Given the description of an element on the screen output the (x, y) to click on. 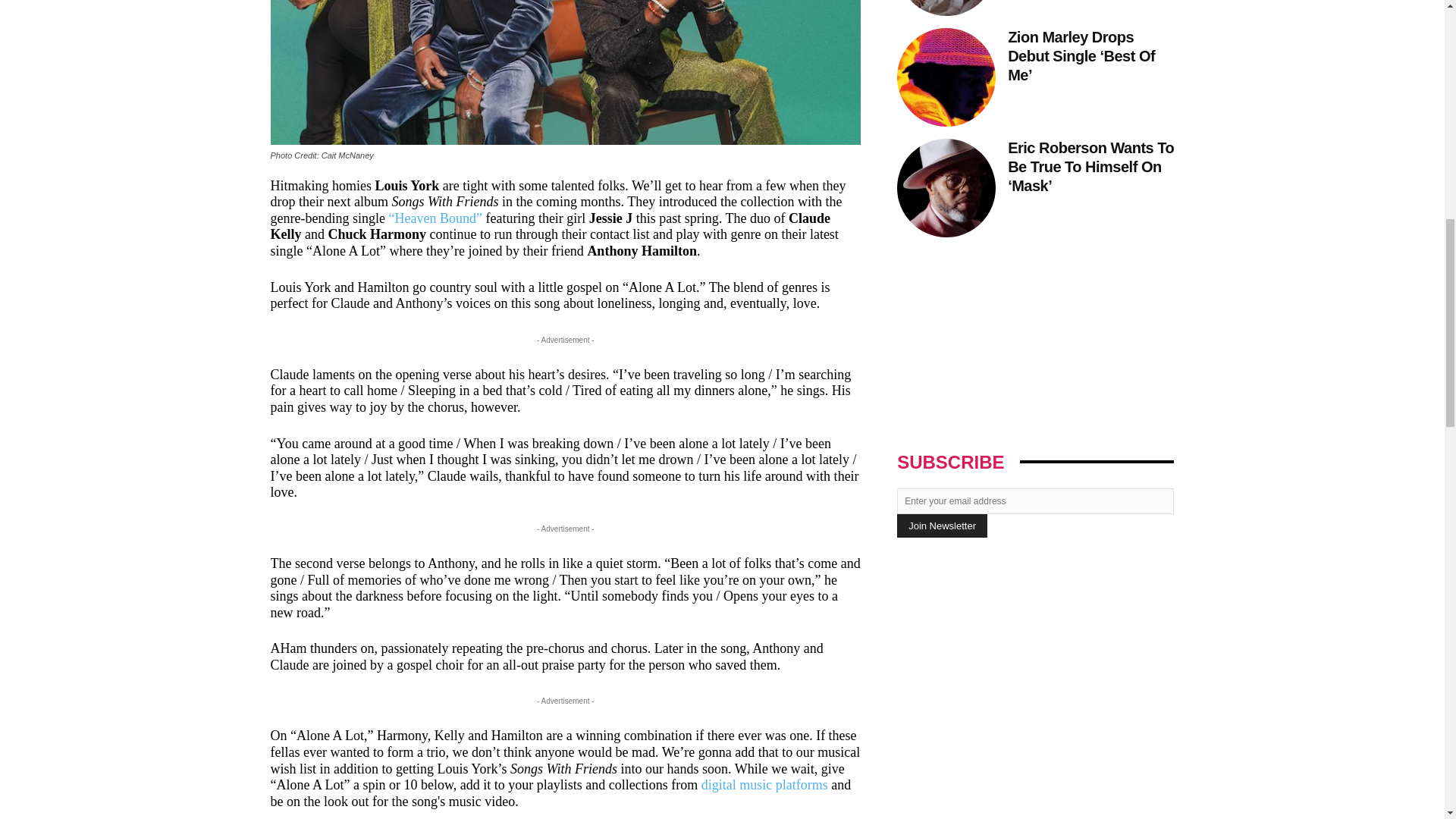
Join Newsletter (941, 525)
